Given the description of an element on the screen output the (x, y) to click on. 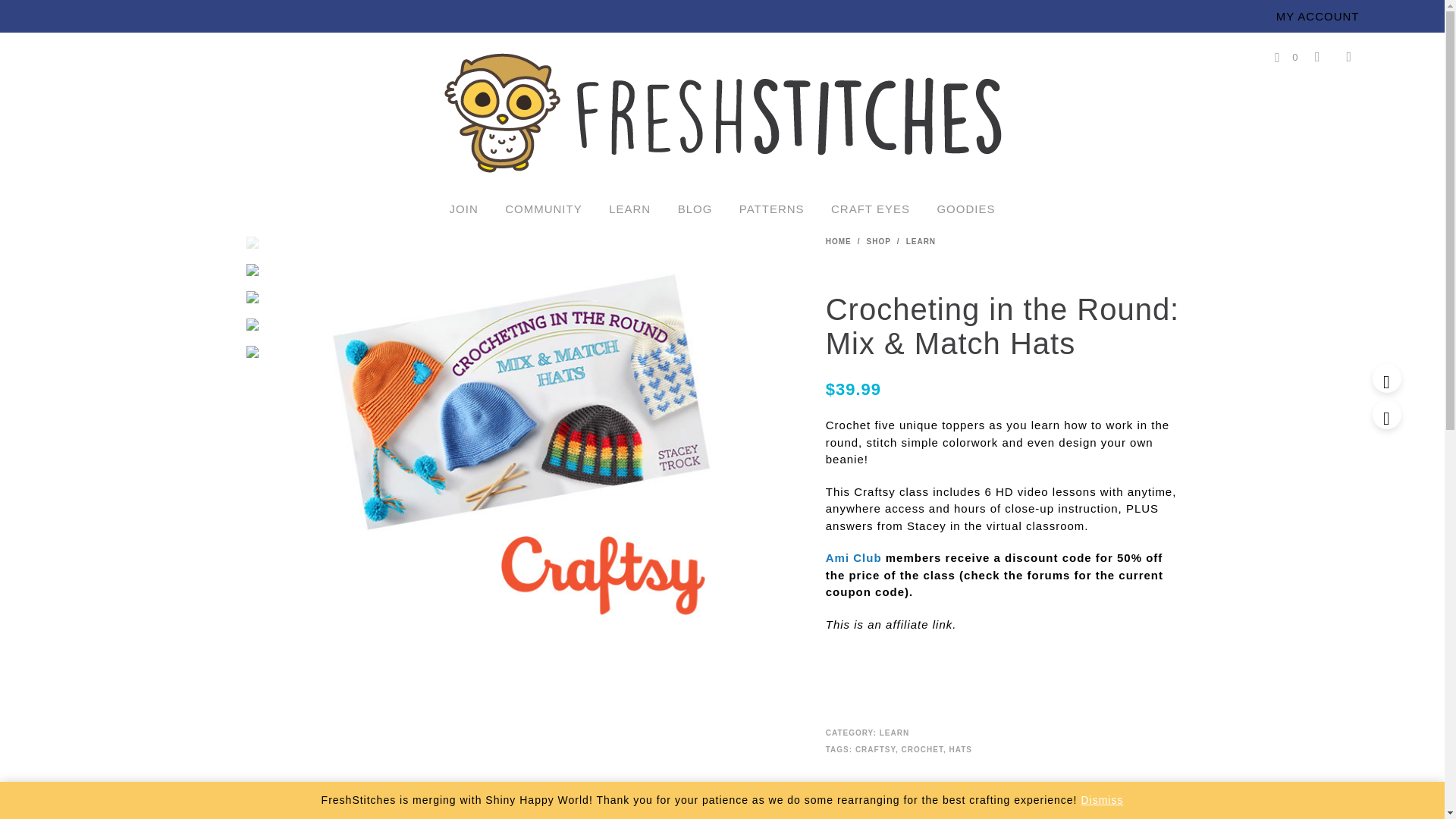
0 (1286, 56)
BLOG (694, 208)
LEARN (920, 241)
CRAFT EYES (870, 208)
ENROLL NOW! (914, 682)
Ami Club (853, 557)
MY ACCOUNT (1318, 16)
COMMUNITY (543, 208)
CROCHET (922, 749)
JOIN (463, 208)
